Given the description of an element on the screen output the (x, y) to click on. 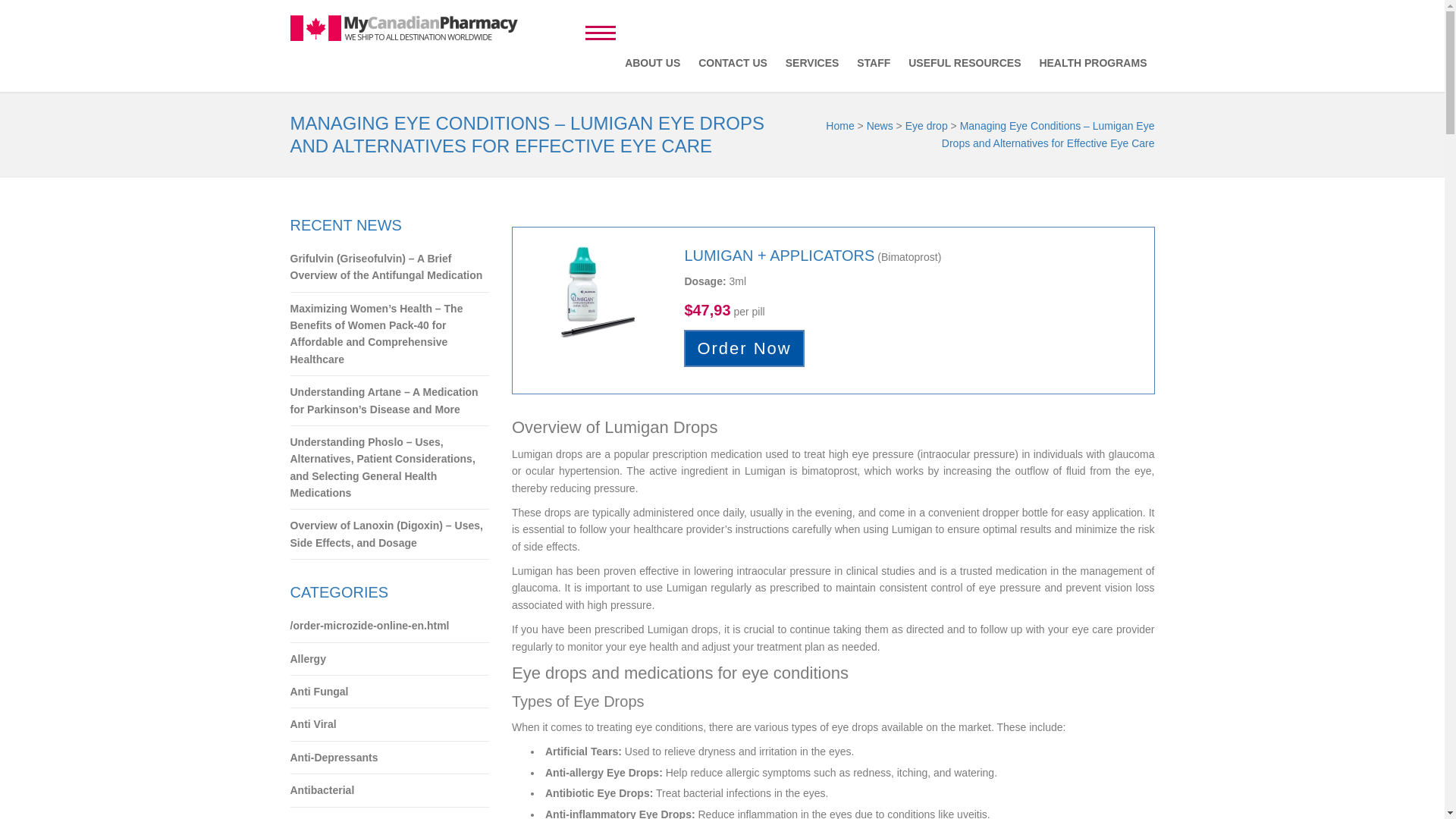
ABOUT US (652, 62)
Menu (600, 30)
Go to the Eye drop category archives. (926, 125)
Order Now (743, 348)
Anti Fungal (389, 691)
Home (839, 125)
Anti-Depressants (389, 757)
HEALTH PROGRAMS (1092, 62)
CONTACT US (732, 62)
Anti Viral (389, 724)
STAFF (873, 62)
Go to News. (879, 125)
Allergy (389, 658)
News (879, 125)
USEFUL RESOURCES (964, 62)
